Given the description of an element on the screen output the (x, y) to click on. 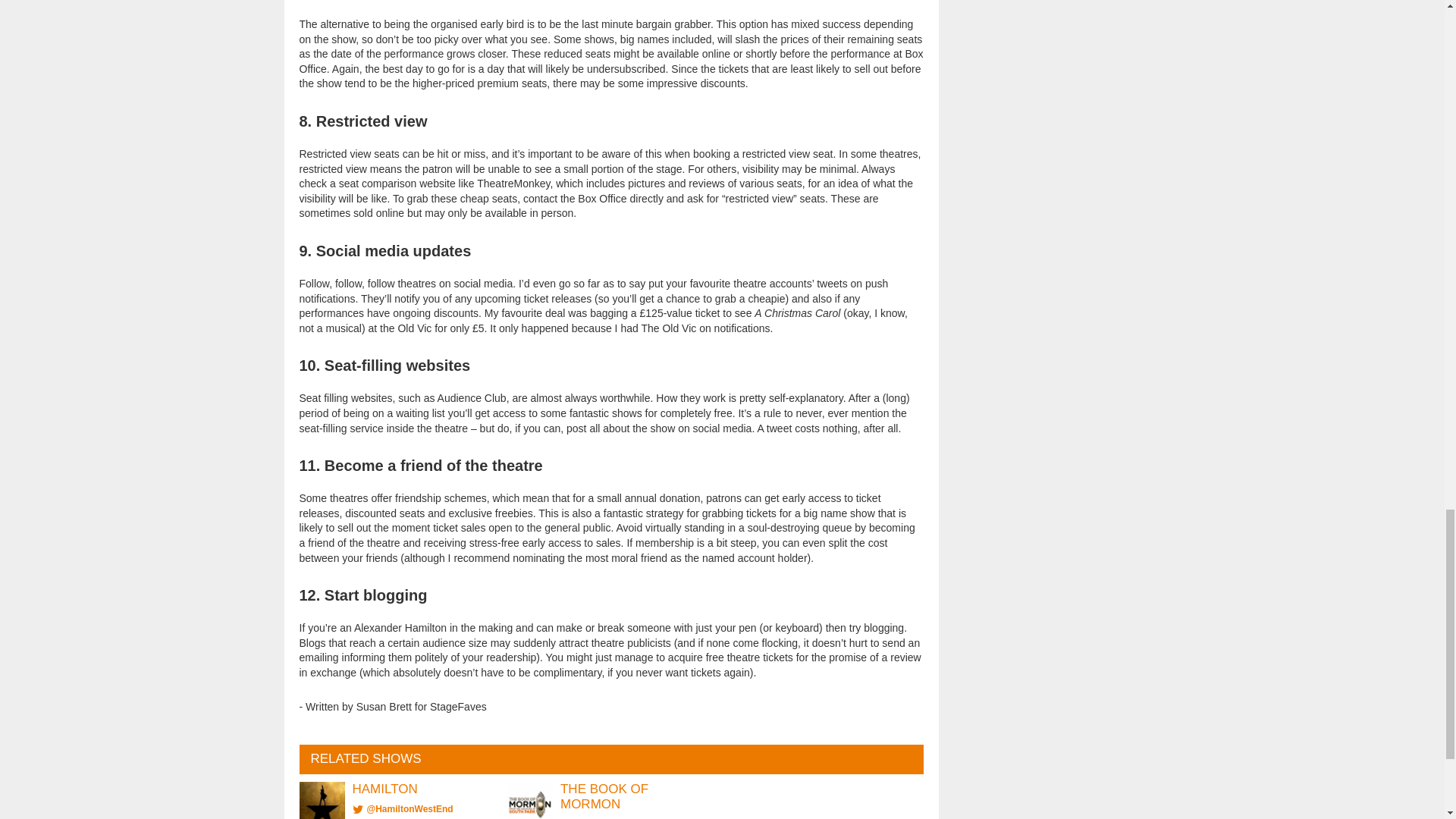
THE BOOK OF MORMON (603, 796)
HAMILTON (384, 789)
